Given the description of an element on the screen output the (x, y) to click on. 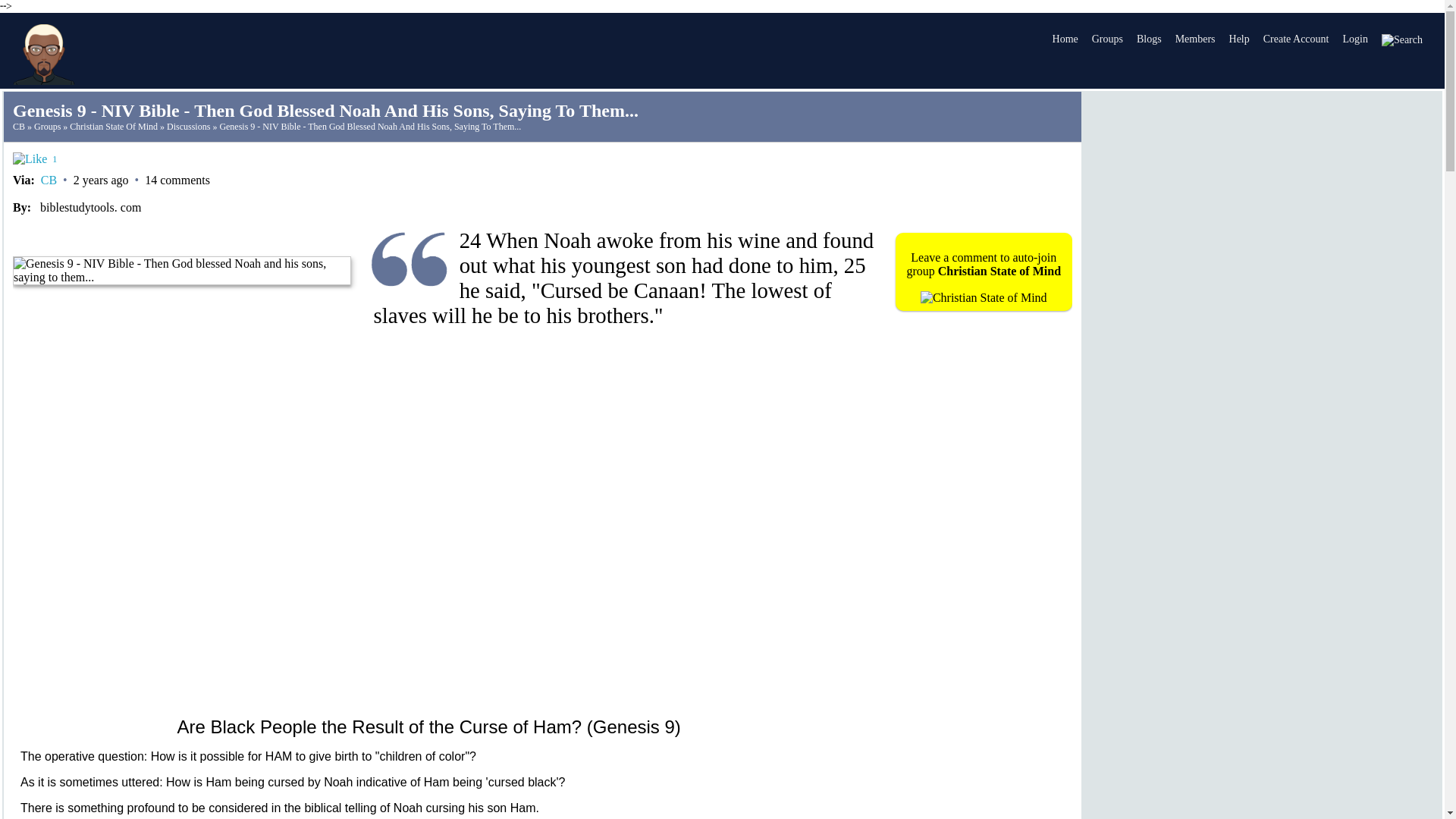
Members (1196, 39)
Blogs (1149, 39)
Help (1239, 39)
Login (1354, 39)
The NewsTalkers (43, 54)
CB (18, 126)
Like (29, 159)
Christian State Of Mind (113, 126)
Home (1064, 39)
search (1401, 39)
